Given the description of an element on the screen output the (x, y) to click on. 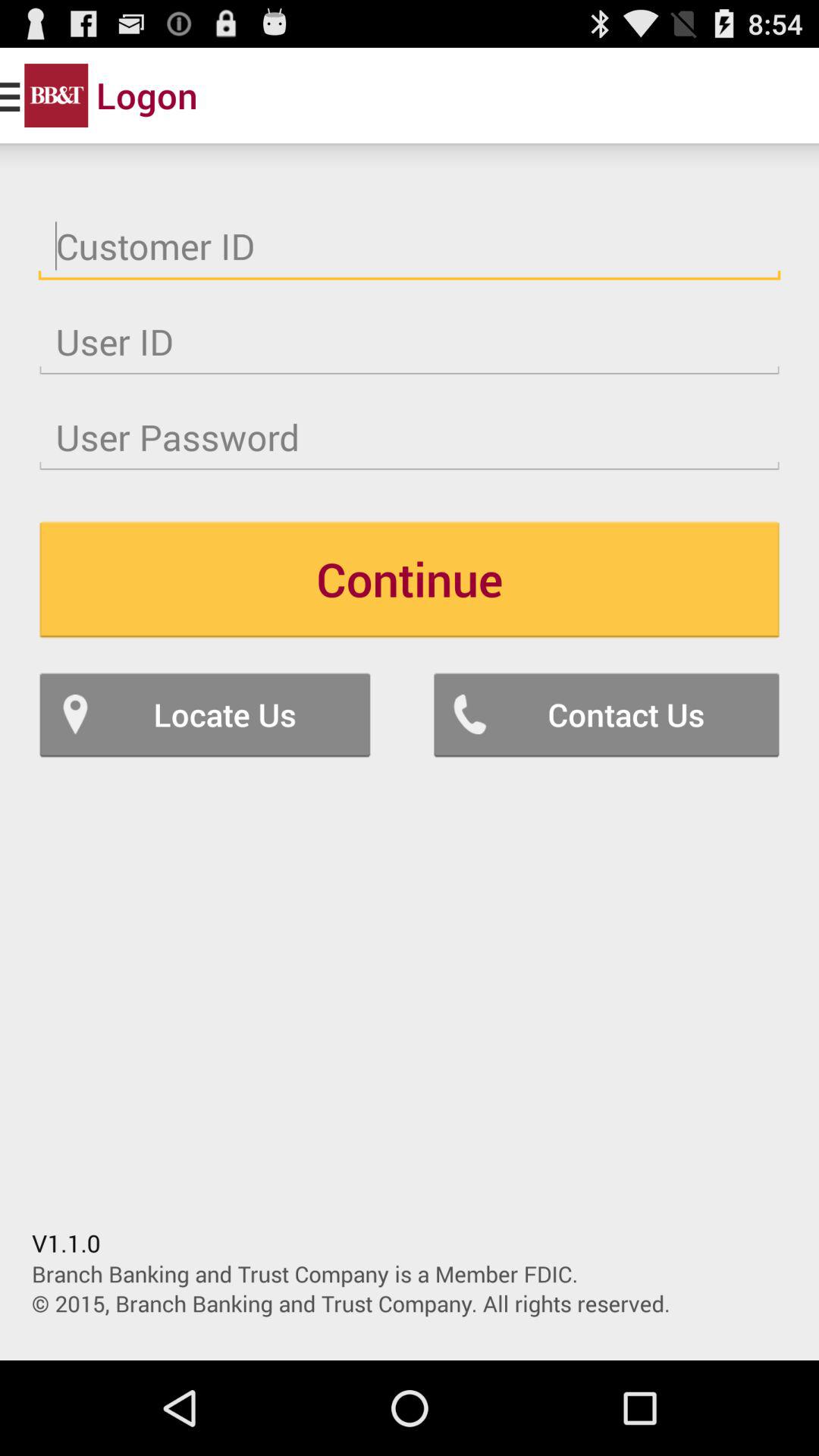
choose the continue at the center (409, 578)
